Given the description of an element on the screen output the (x, y) to click on. 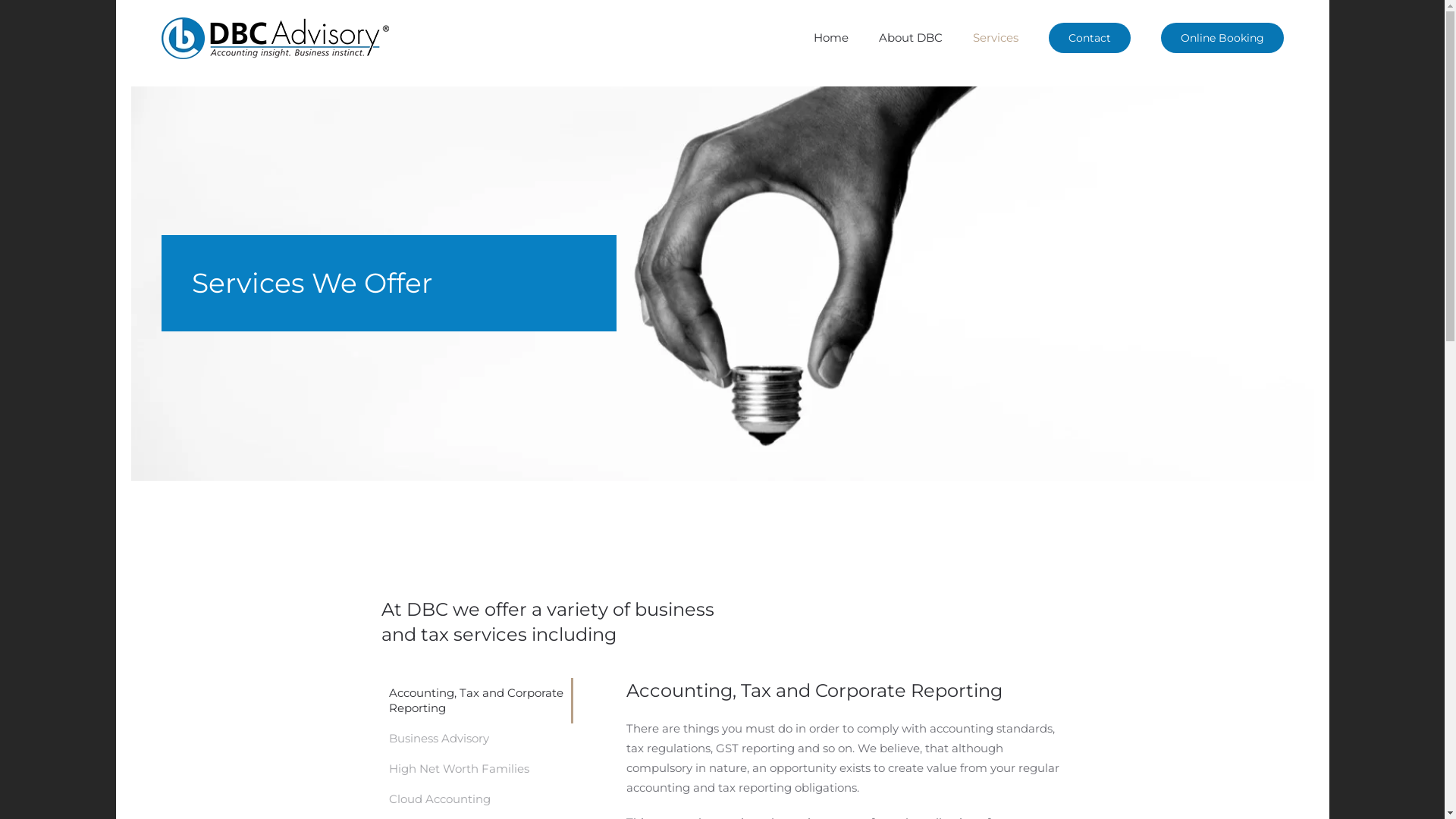
Contact Element type: text (1088, 37)
Cloud Accounting Element type: text (476, 799)
Business Advisory Element type: text (476, 738)
Services Element type: text (994, 37)
Accounting, Tax and Corporate Reporting Element type: text (476, 700)
Online Booking Element type: text (1221, 37)
Home Element type: text (829, 37)
About DBC Element type: text (909, 37)
High Net Worth Families Element type: text (476, 768)
